Given the description of an element on the screen output the (x, y) to click on. 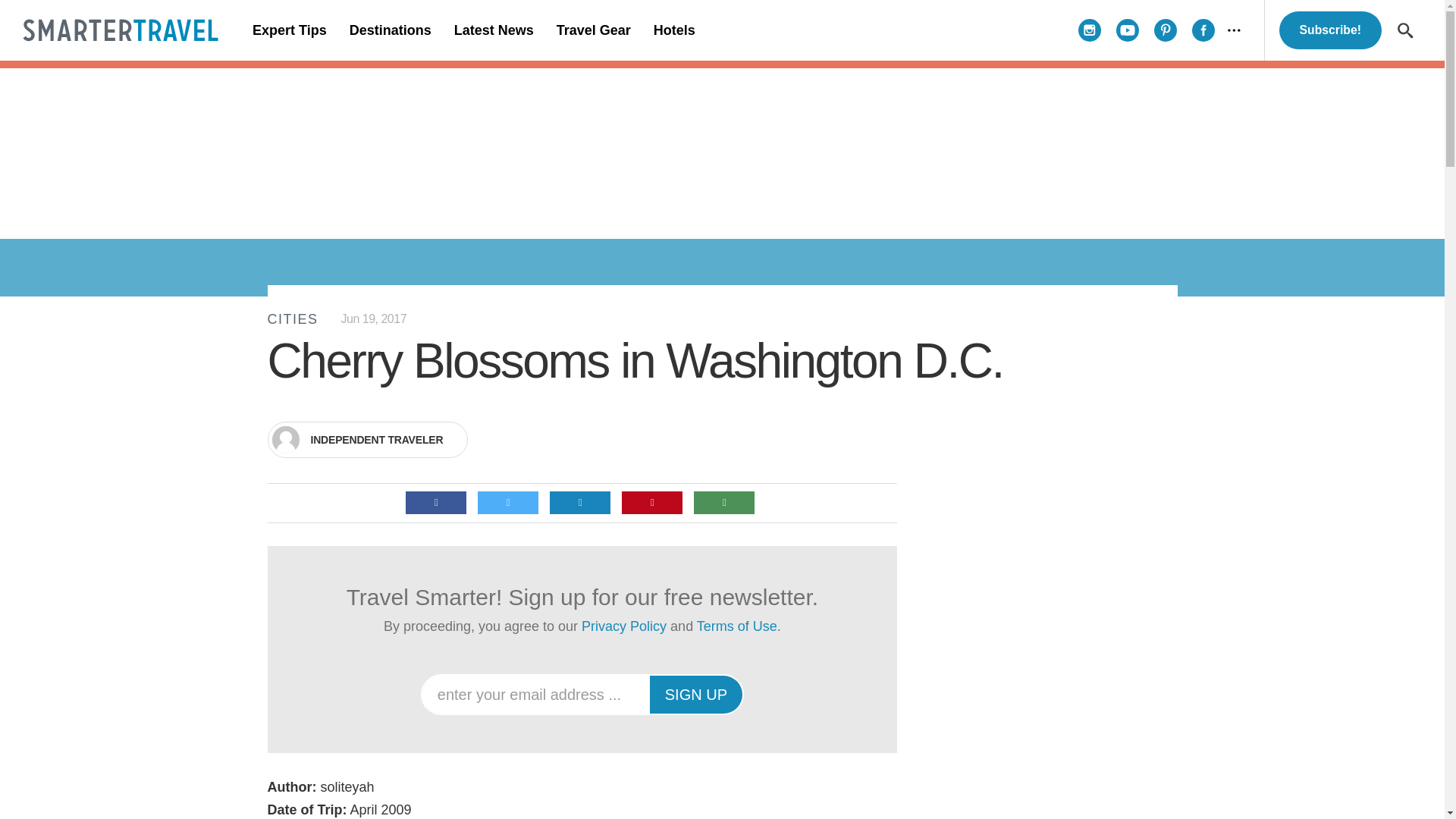
Subscribe! (1330, 30)
Expert Tips (289, 30)
Travel Gear (593, 30)
Hotels (674, 30)
Latest News (493, 30)
Destinations (389, 30)
